Given the description of an element on the screen output the (x, y) to click on. 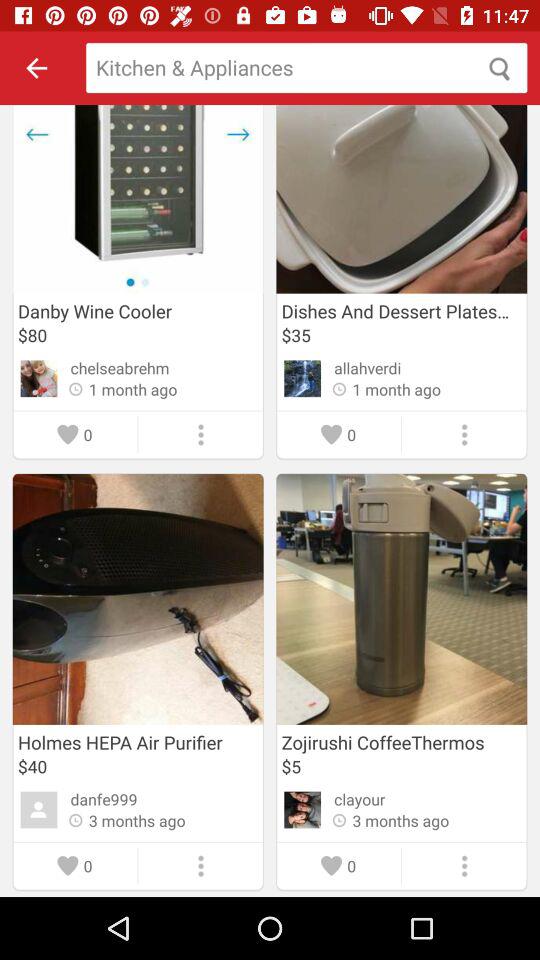
launch the clayour item (359, 799)
